Given the description of an element on the screen output the (x, y) to click on. 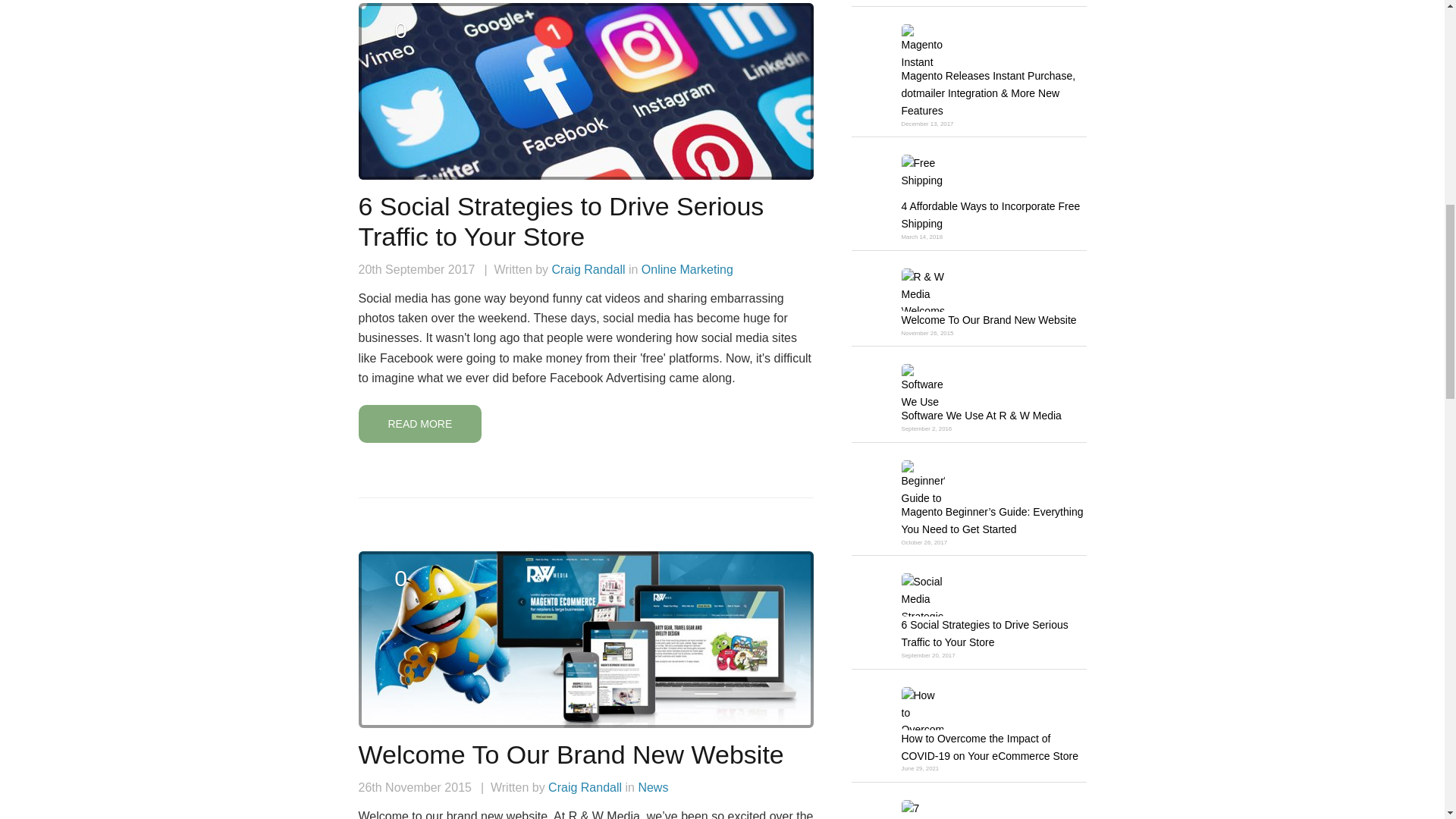
Craig Randall (588, 269)
0 (400, 37)
Online Marketing (687, 269)
6 Social Strategies to Drive Serious Traffic to Your Store (560, 221)
READ MORE (419, 423)
